Given the description of an element on the screen output the (x, y) to click on. 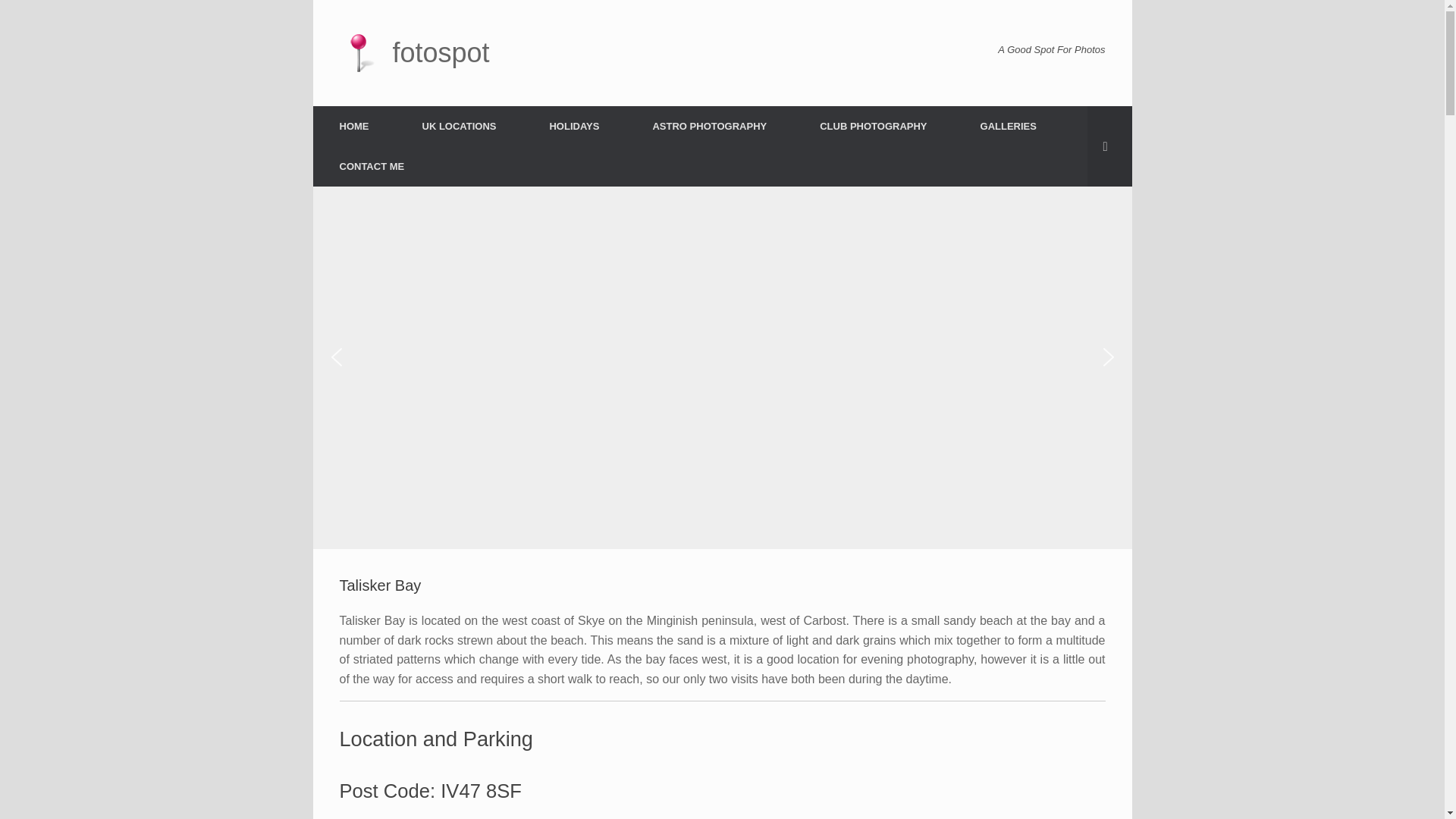
fotospot (414, 53)
ASTRO PHOTOGRAPHY (709, 126)
HOLIDAYS (574, 126)
UK LOCATIONS (459, 126)
fotospot (414, 53)
HOME (353, 126)
